Given the description of an element on the screen output the (x, y) to click on. 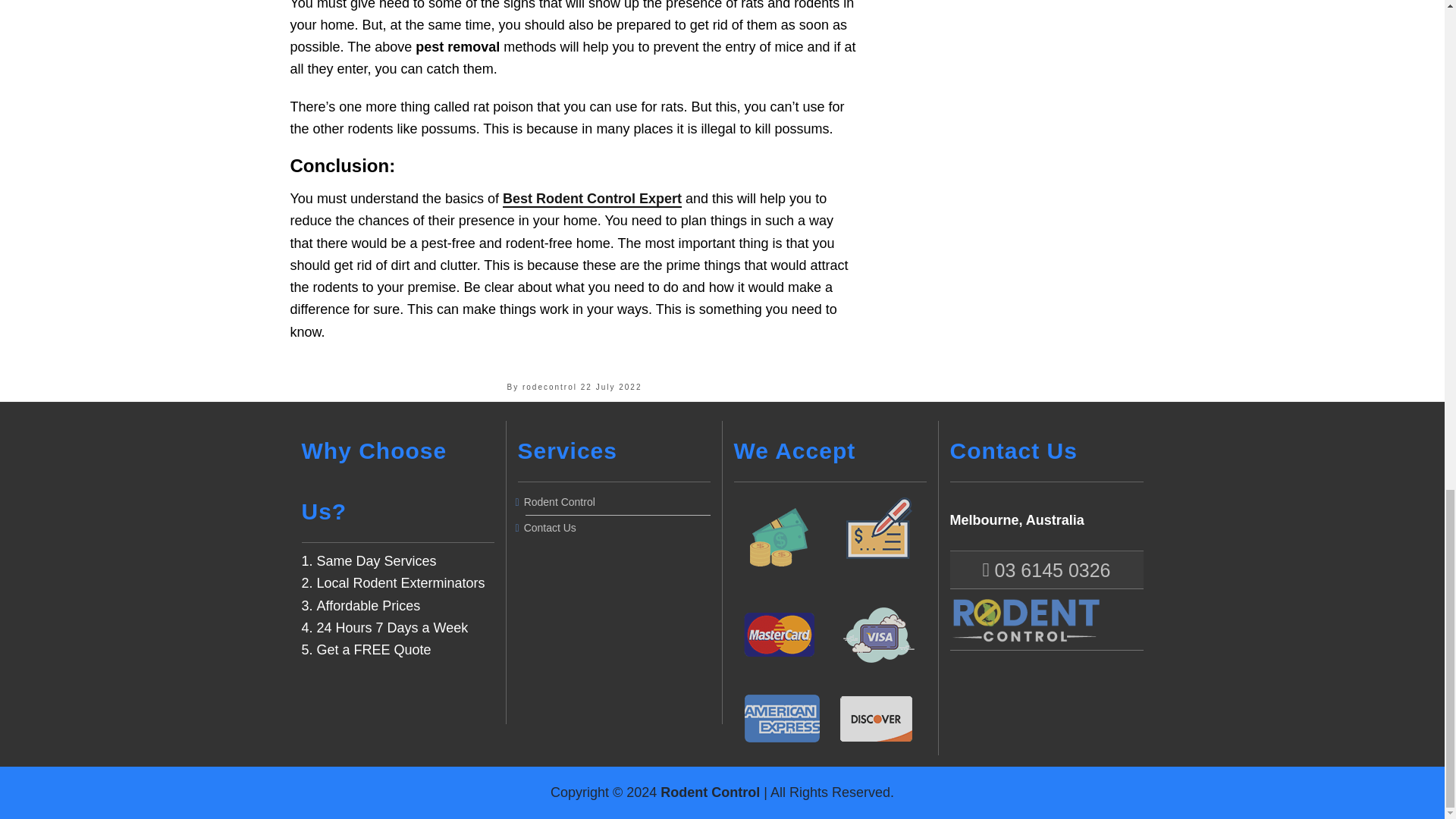
Rodent Control (617, 502)
Contact Us (617, 527)
Best Rodent Control Expert (591, 199)
Rodent Control (710, 792)
 03 6145 0326 (1045, 569)
